Given the description of an element on the screen output the (x, y) to click on. 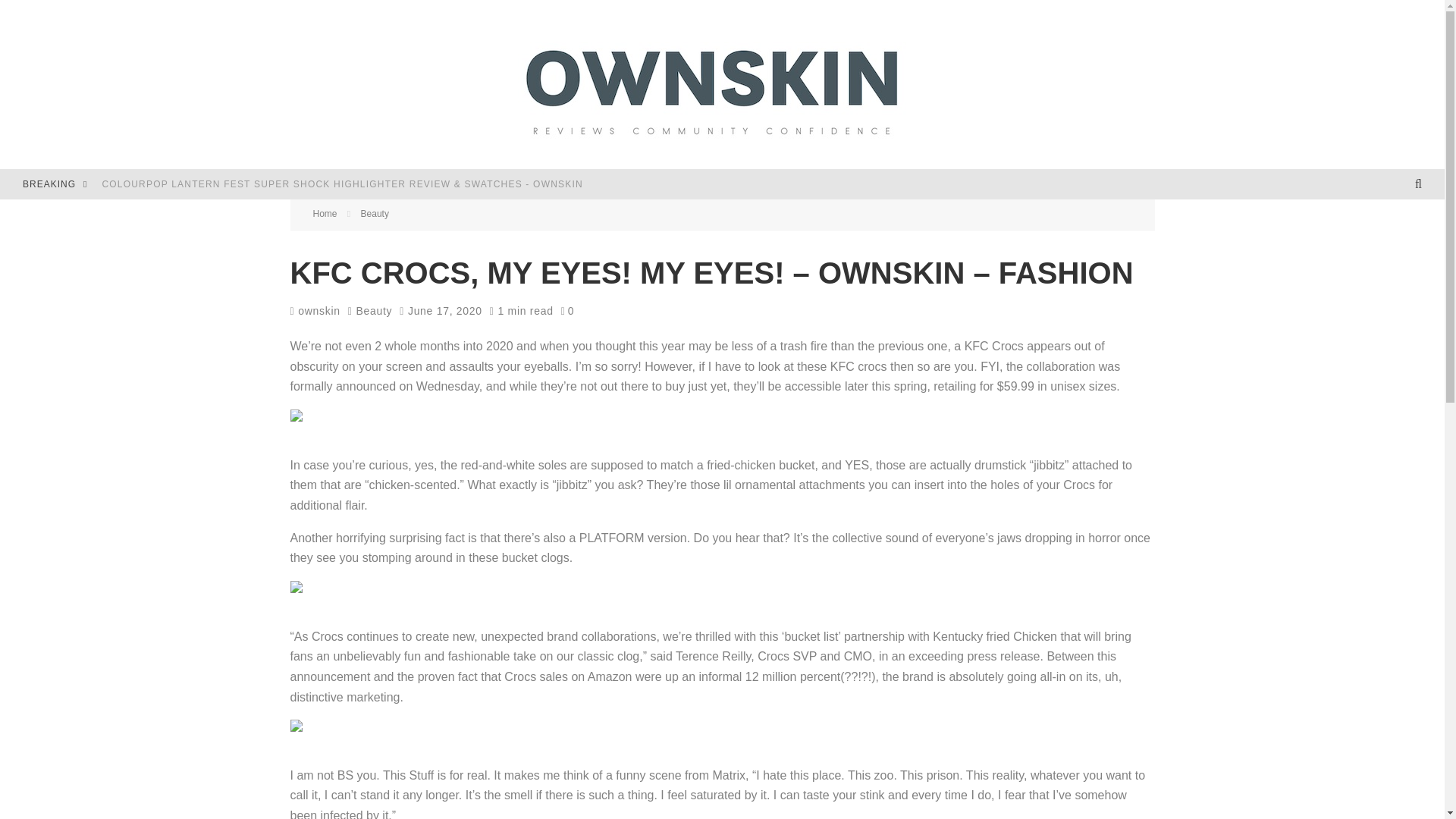
0 (567, 310)
Beauty (374, 213)
Beauty (373, 310)
Home (324, 213)
ownskin (314, 310)
